Given the description of an element on the screen output the (x, y) to click on. 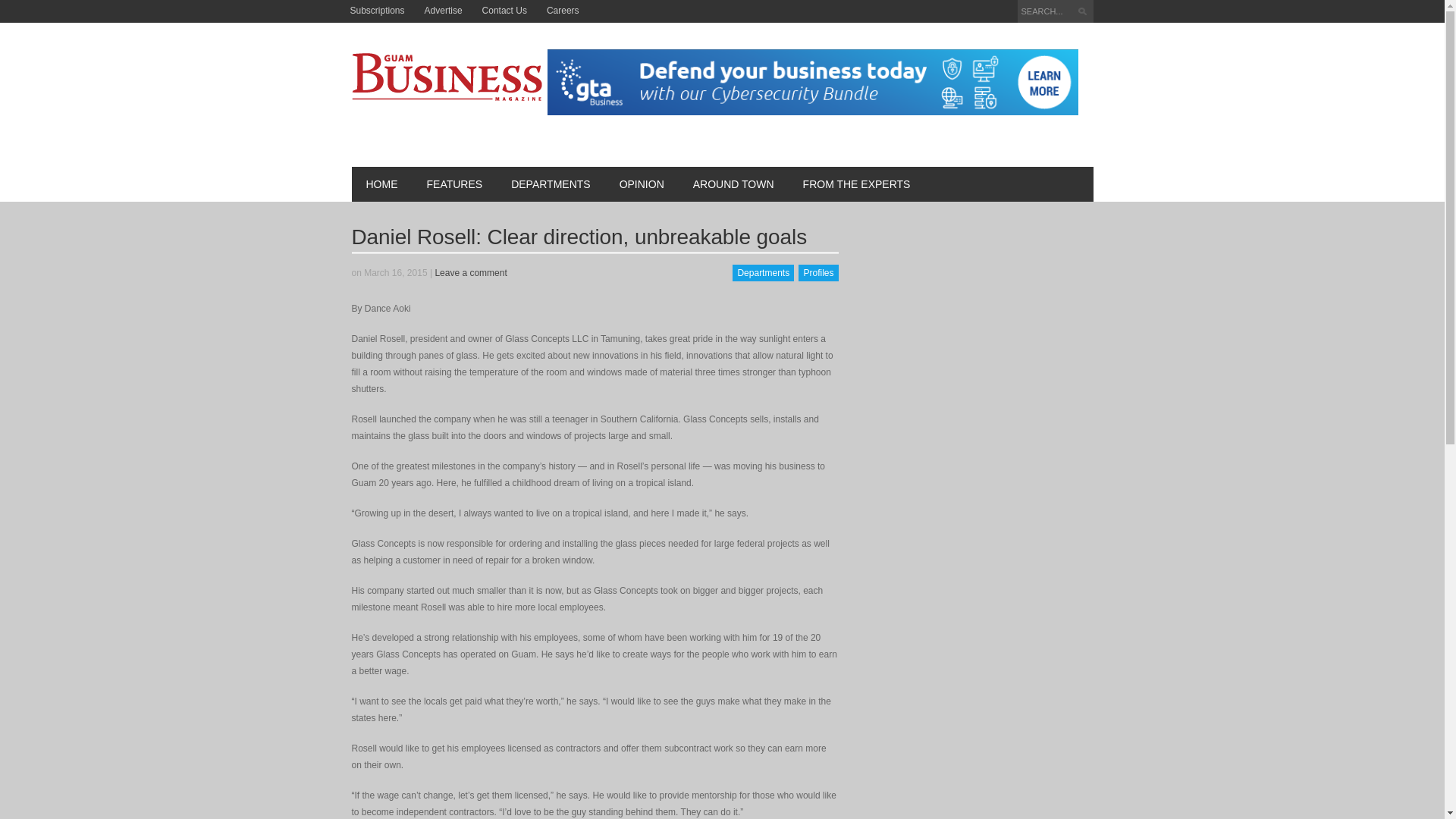
Search (1084, 13)
Search (1084, 13)
Leave a comment (469, 272)
HOME (382, 184)
Search (1084, 13)
AROUND TOWN (733, 184)
Careers (563, 11)
DEPARTMENTS (550, 184)
SEARCH... (1055, 11)
Subscriptions (376, 11)
